Given the description of an element on the screen output the (x, y) to click on. 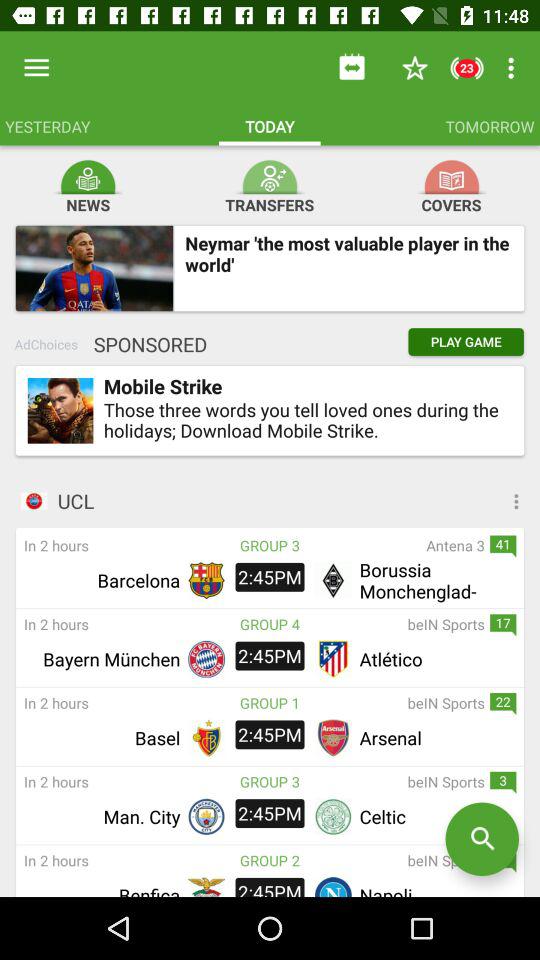
open search bar (482, 839)
